Given the description of an element on the screen output the (x, y) to click on. 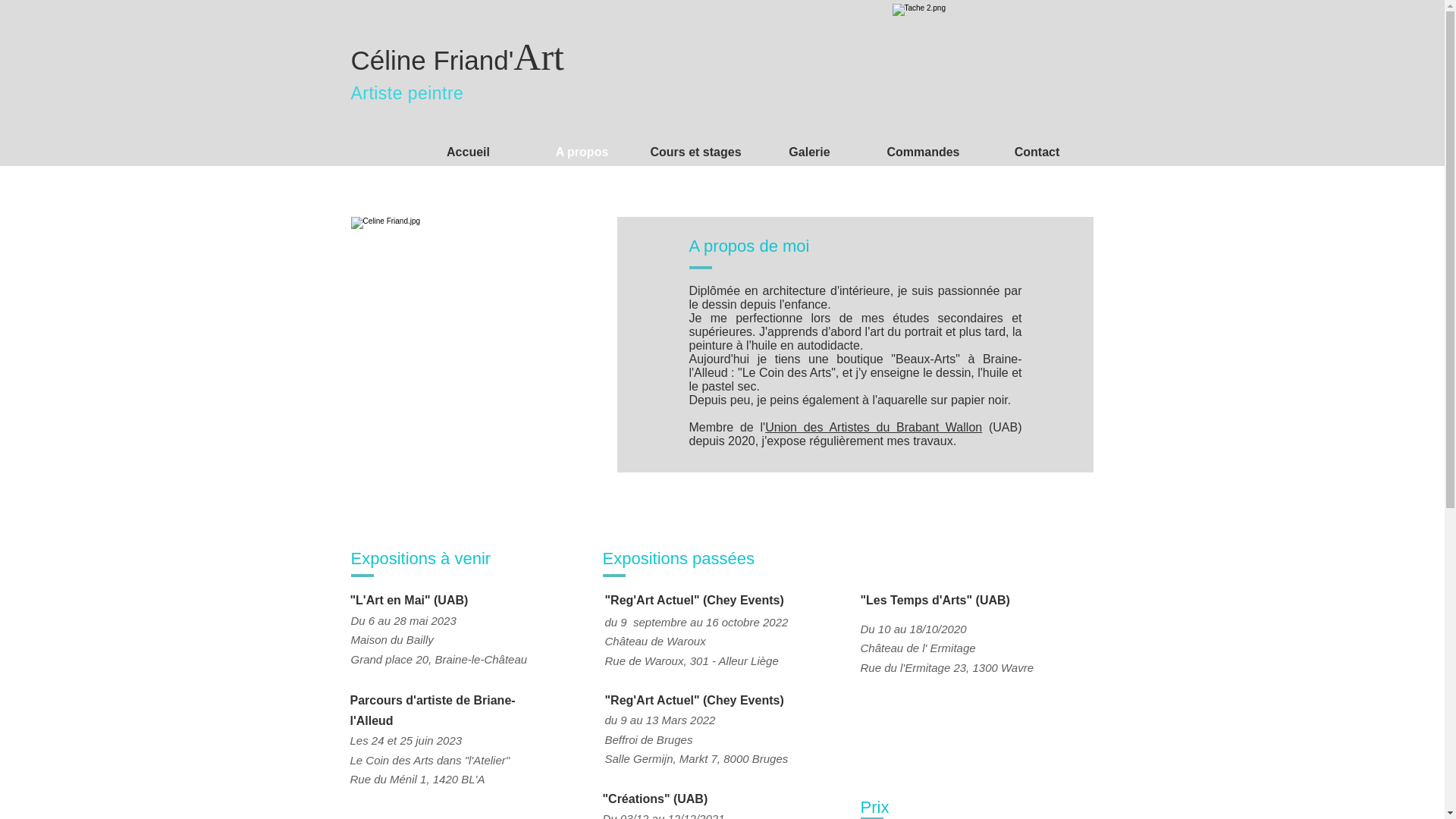
Galerie Element type: text (809, 152)
Accueil Element type: text (467, 152)
Union des Artistes du Brabant Wallon Element type: text (873, 426)
Contact Element type: text (1036, 152)
Commandes Element type: text (922, 152)
Cours et stages Element type: text (695, 152)
A propos Element type: text (581, 152)
